Given the description of an element on the screen output the (x, y) to click on. 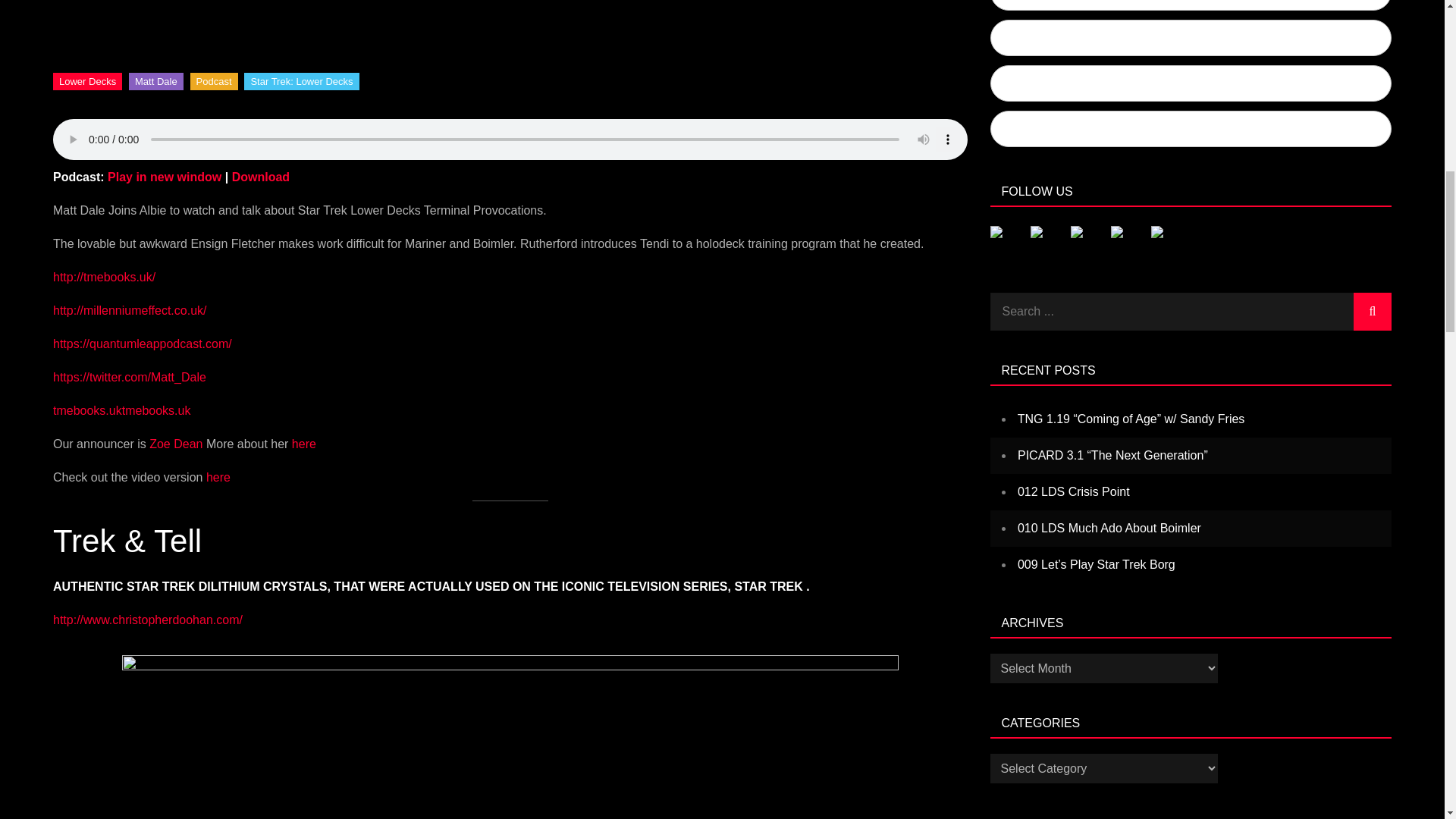
Play in new window (164, 176)
Subscribe on Google Podcasts (1190, 5)
Subscribe on Android (1190, 37)
Subscribe by Email (1190, 83)
Subscribe via RSS (1190, 128)
Matt Dale (156, 81)
Lower Decks (87, 81)
Zoe Dean (175, 443)
here (218, 477)
Download (260, 176)
